Given the description of an element on the screen output the (x, y) to click on. 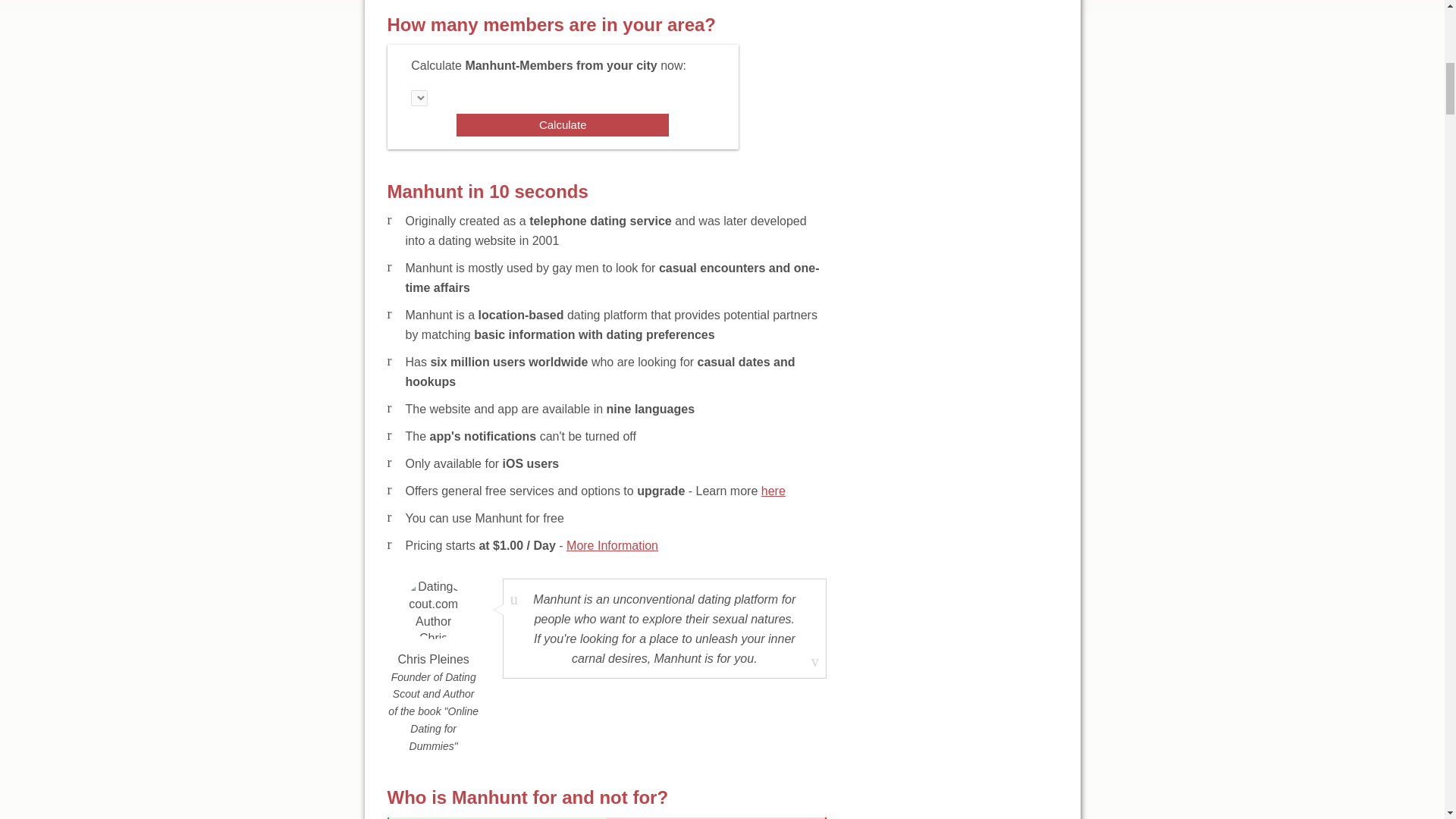
Calculate (562, 124)
